Given the description of an element on the screen output the (x, y) to click on. 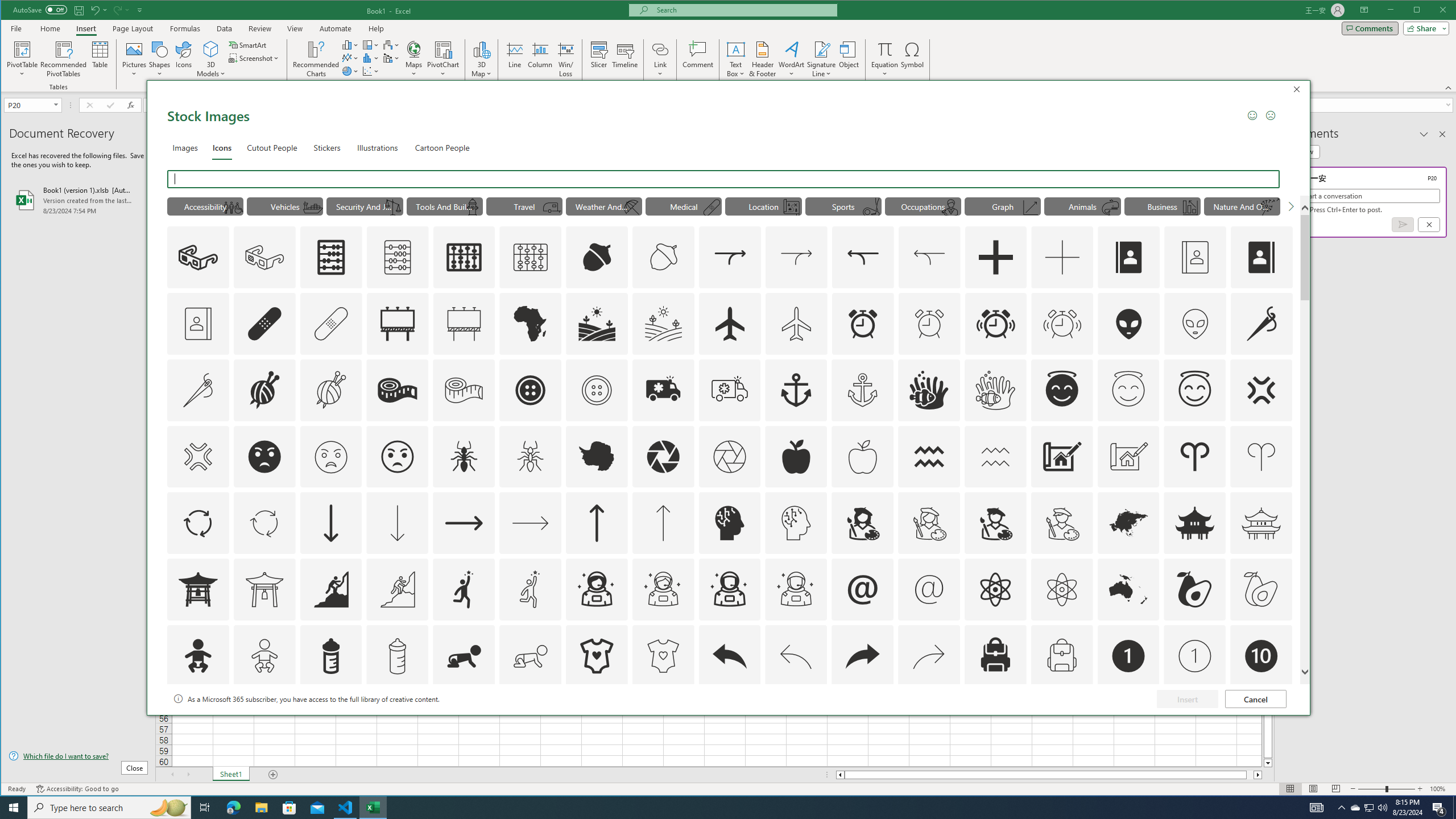
AutomationID: Icons_Avocado_M (1260, 589)
AutomationID: Icons_Badge2_M (330, 721)
"Sports" Icons. (842, 206)
Icons (183, 59)
AutomationID: Icons_Badge1 (1128, 655)
Pictures (134, 59)
Cartoon People (442, 147)
AutomationID: Icons_Back_LTR (729, 655)
AutomationID: Icons_Backpack (995, 655)
